Given the description of an element on the screen output the (x, y) to click on. 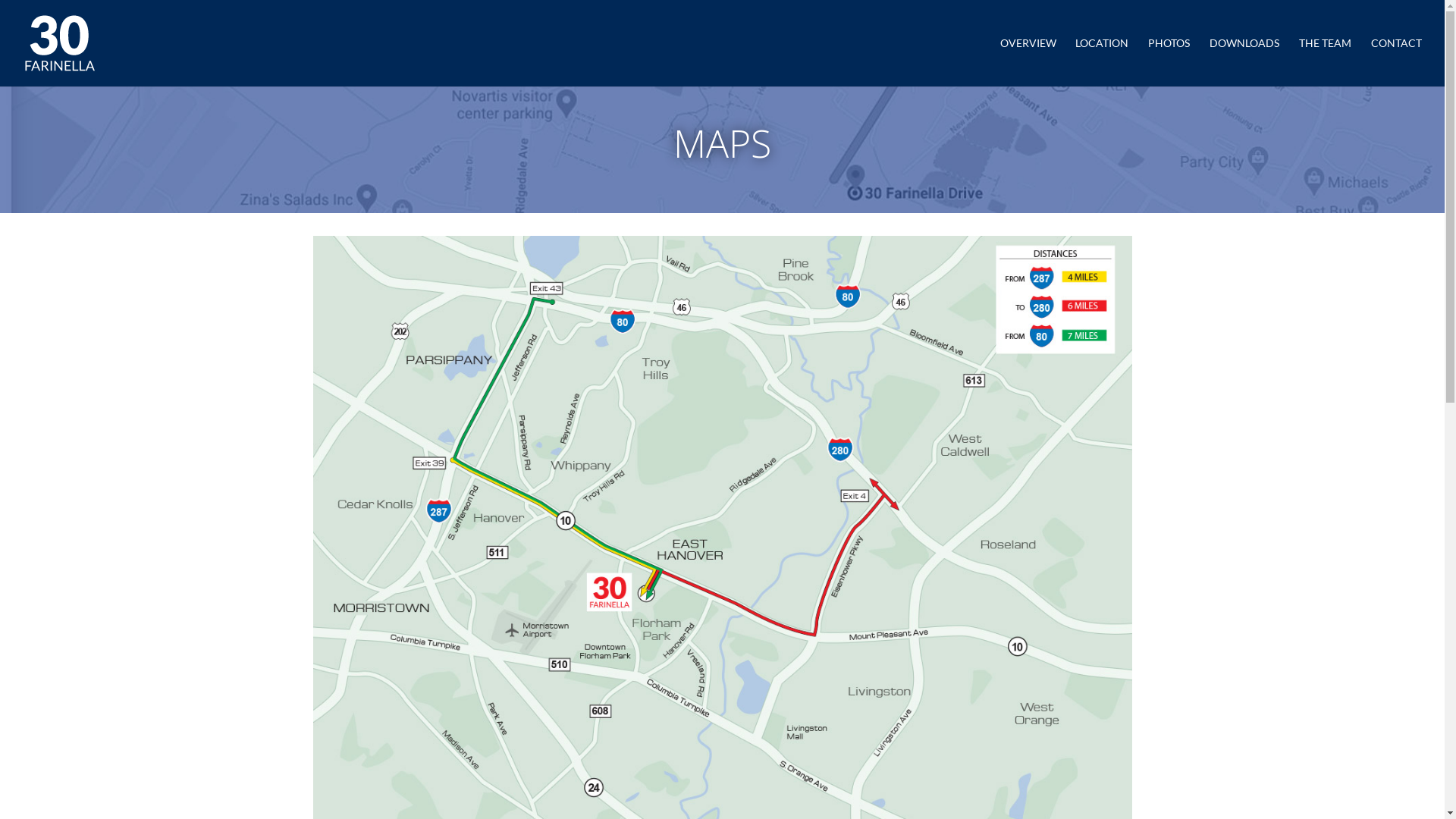
THE TEAM Element type: text (1325, 61)
OVERVIEW Element type: text (1028, 61)
DOWNLOADS Element type: text (1244, 61)
LOCATION Element type: text (1101, 61)
CONTACT Element type: text (1396, 61)
PHOTOS Element type: text (1168, 61)
